Given the description of an element on the screen output the (x, y) to click on. 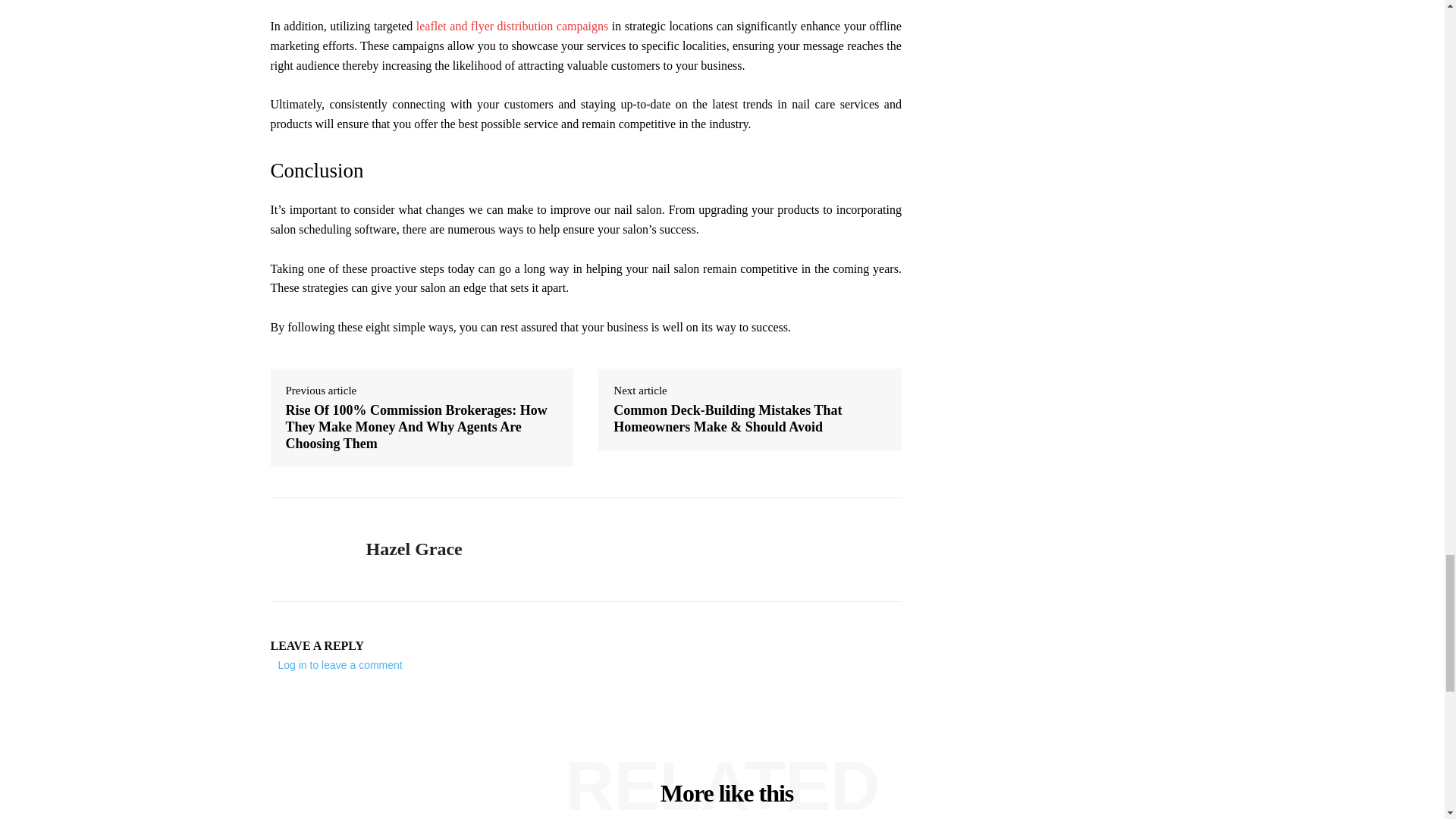
Hazel Grace (305, 549)
